Given the description of an element on the screen output the (x, y) to click on. 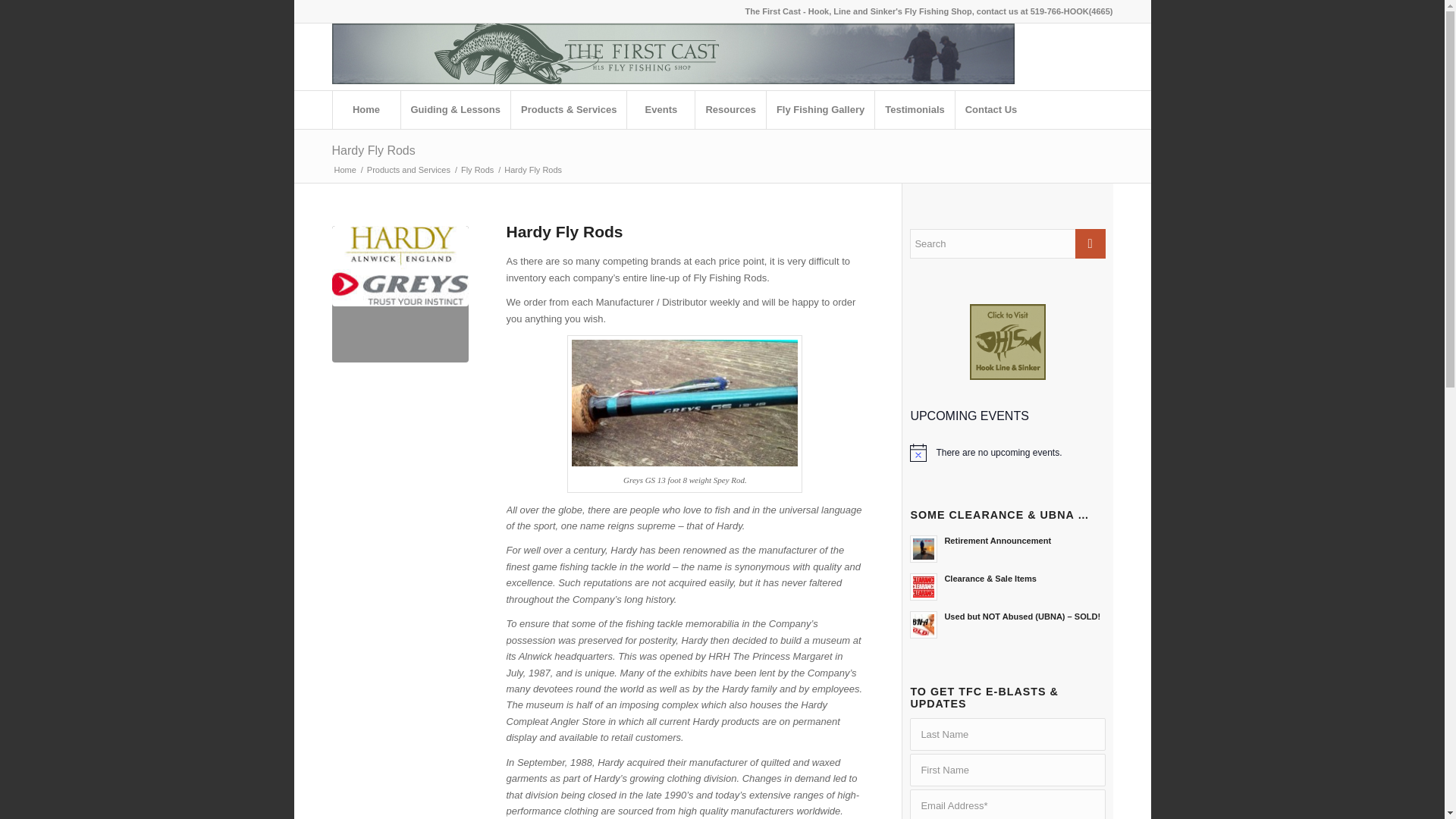
The First Cast - Hook, Line and Sinker's Fly Fishing Shop (344, 169)
Home (365, 109)
Permanent Link: Hardy Fly Rods (372, 150)
